Given the description of an element on the screen output the (x, y) to click on. 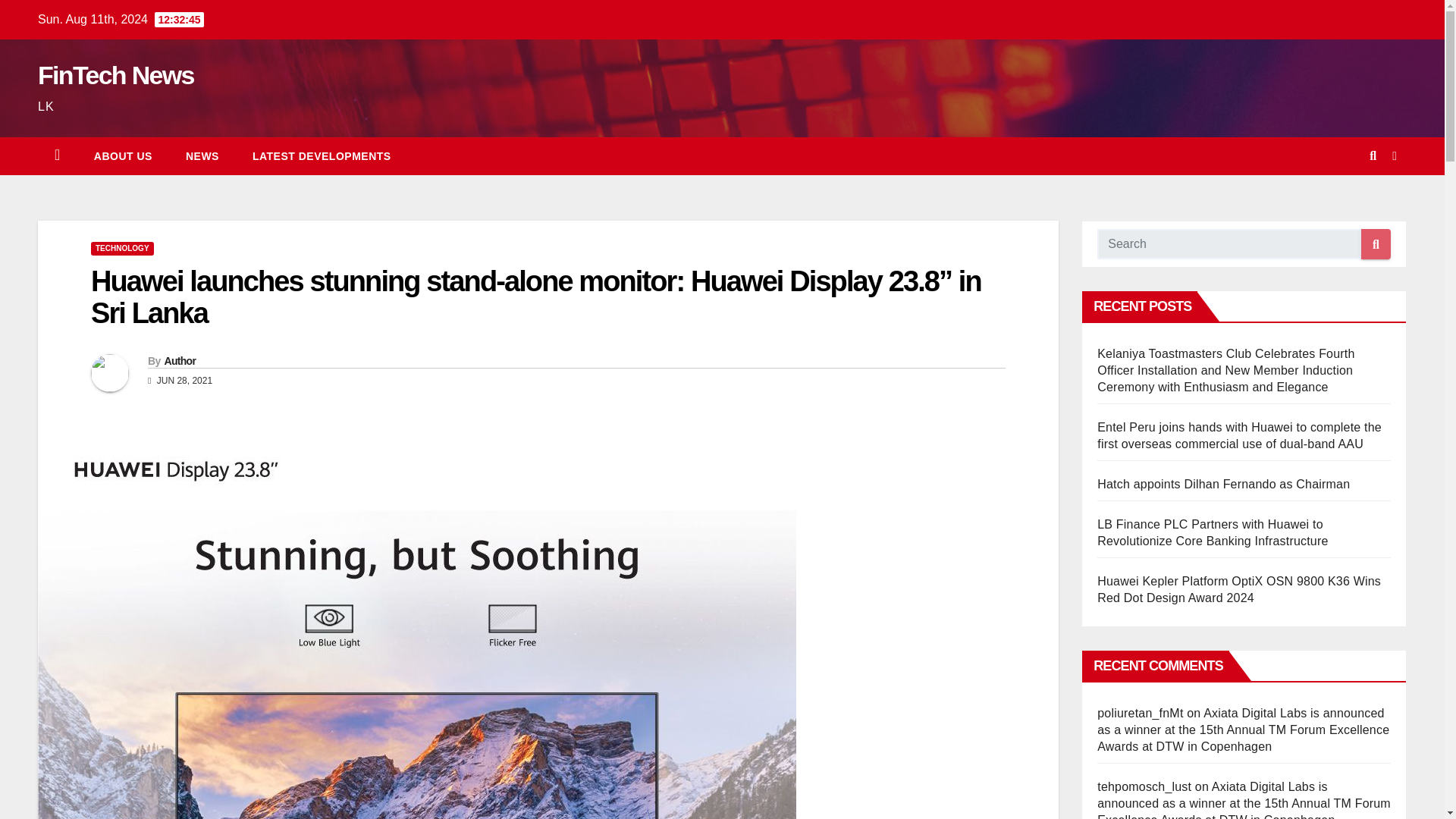
NEWS (201, 156)
LATEST DEVELOPMENTS (321, 156)
FinTech News (115, 74)
About Us (122, 156)
TECHNOLOGY (122, 248)
ABOUT US (122, 156)
Author (179, 360)
News (201, 156)
Latest Developments (321, 156)
